Given the description of an element on the screen output the (x, y) to click on. 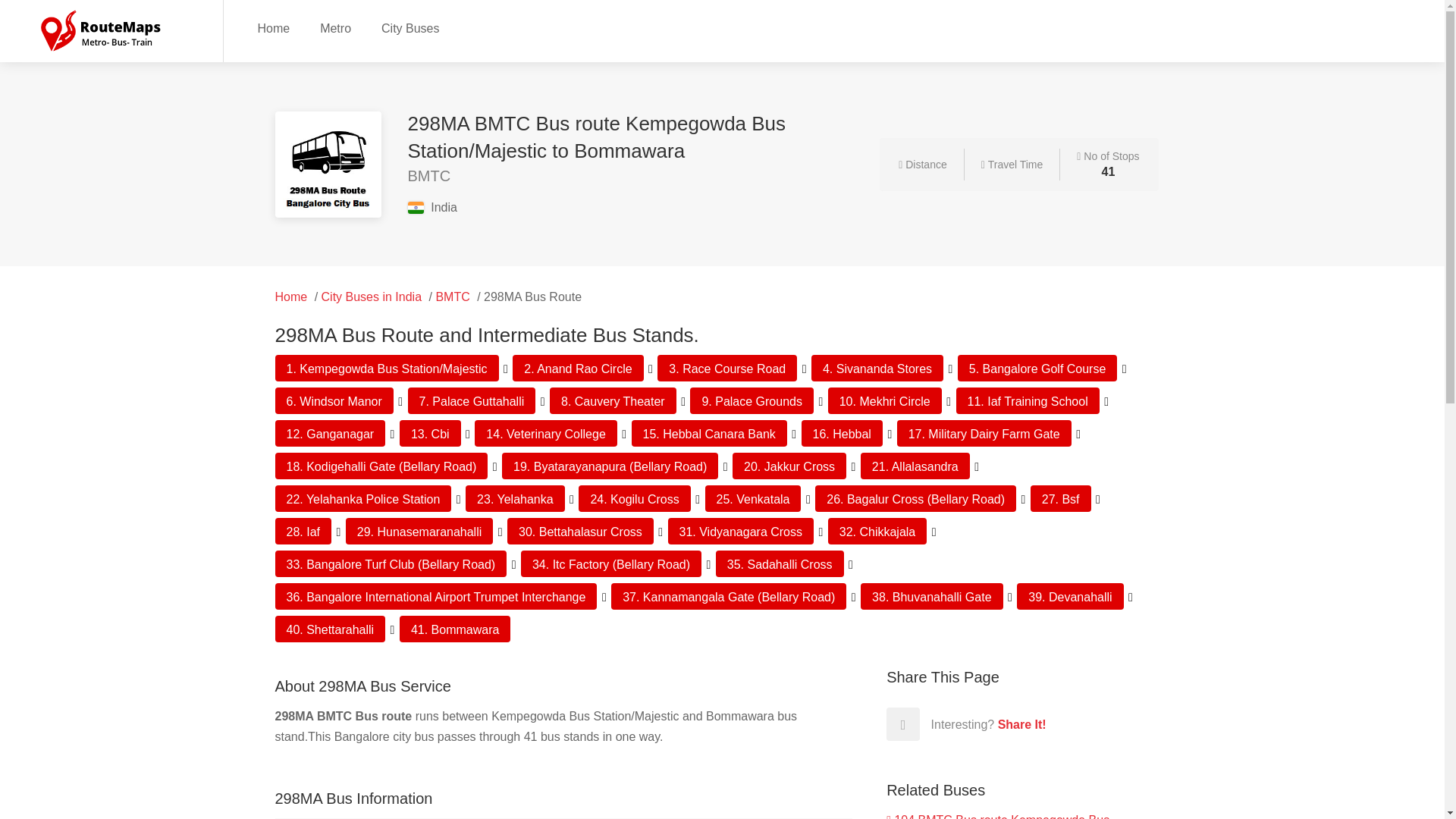
City Buses in India (371, 296)
Home (273, 28)
City Buses (409, 28)
Metro (335, 28)
BMTC (451, 296)
Home (291, 296)
